Given the description of an element on the screen output the (x, y) to click on. 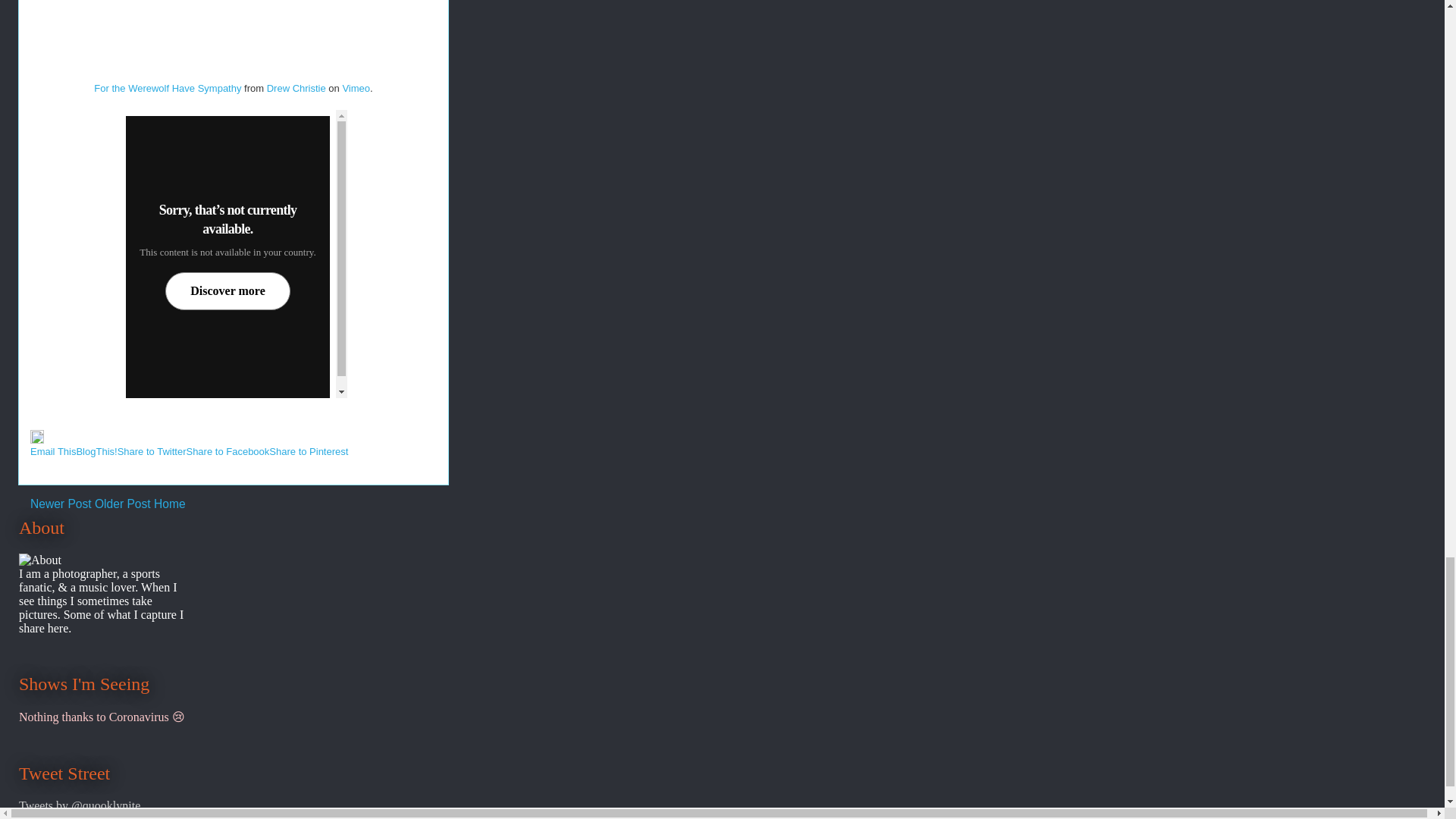
BlogThis! (95, 451)
Email This (52, 451)
Share to Facebook (227, 451)
Edit Post (36, 439)
Share to Twitter (151, 451)
Share to Pinterest (308, 451)
Newer Post (60, 503)
BlogThis! (95, 451)
Share to Twitter (151, 451)
Older Post (122, 503)
